Given the description of an element on the screen output the (x, y) to click on. 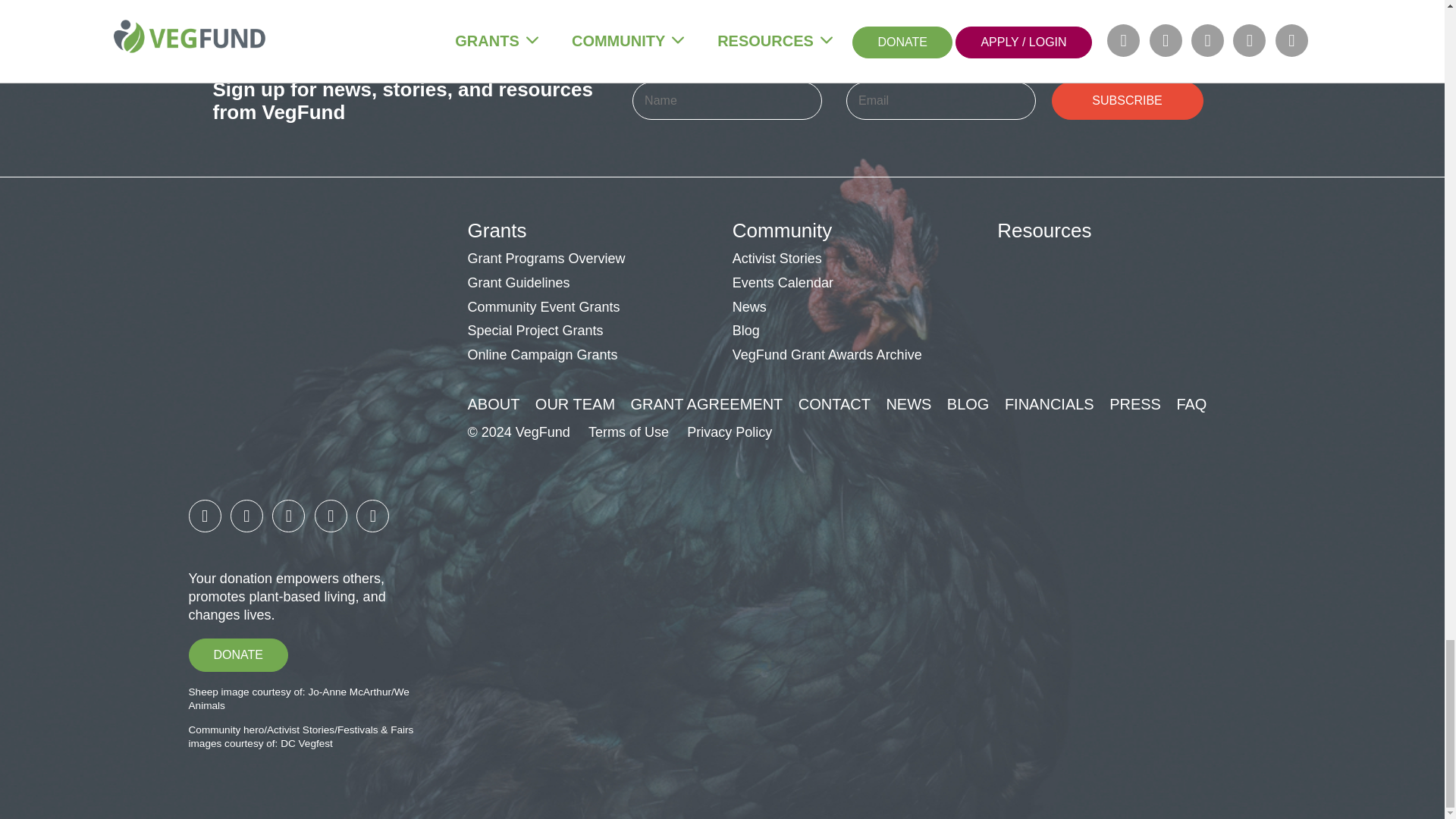
Facebook (204, 515)
Subscribe (1127, 100)
Twitter (330, 515)
LinkedIn (288, 515)
Youtube (372, 515)
Instagram (246, 515)
Grants (496, 230)
